Given the description of an element on the screen output the (x, y) to click on. 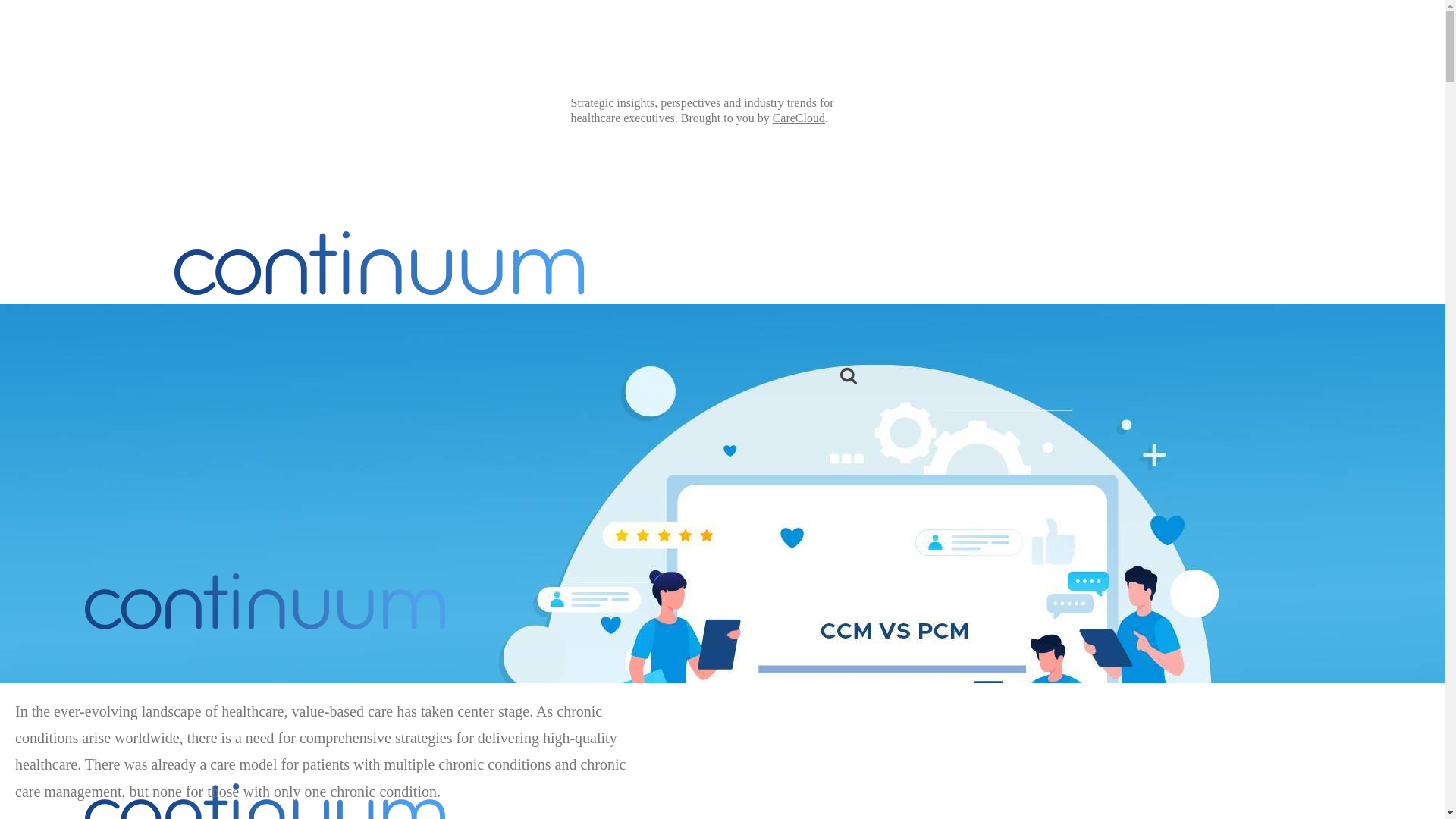
CareCloud (799, 117)
Brought to you by CareCloud (264, 601)
Brought to you by CareCloud (264, 783)
